Given the description of an element on the screen output the (x, y) to click on. 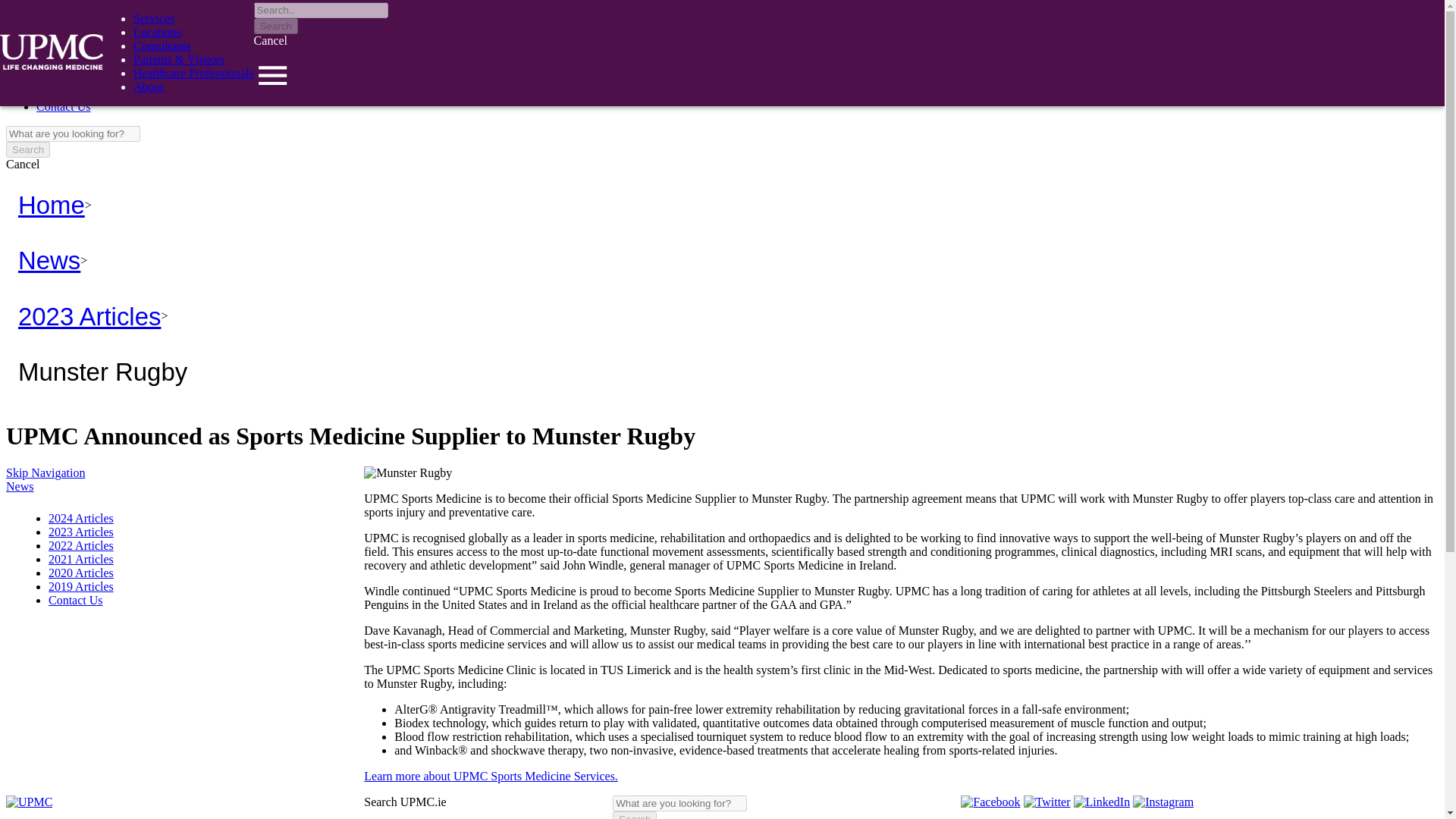
About (148, 86)
Contact Us (63, 106)
Careers (55, 38)
2021 Articles (80, 558)
Healthcare Professionals (193, 72)
2023 Articles (80, 531)
Blog (47, 78)
News (50, 65)
News (48, 260)
2023 Articles (88, 316)
Search (634, 815)
2020 Articles (80, 572)
Services (153, 18)
Search (27, 149)
Learn more about UPMC Sports Medicine Services. (490, 775)
